Given the description of an element on the screen output the (x, y) to click on. 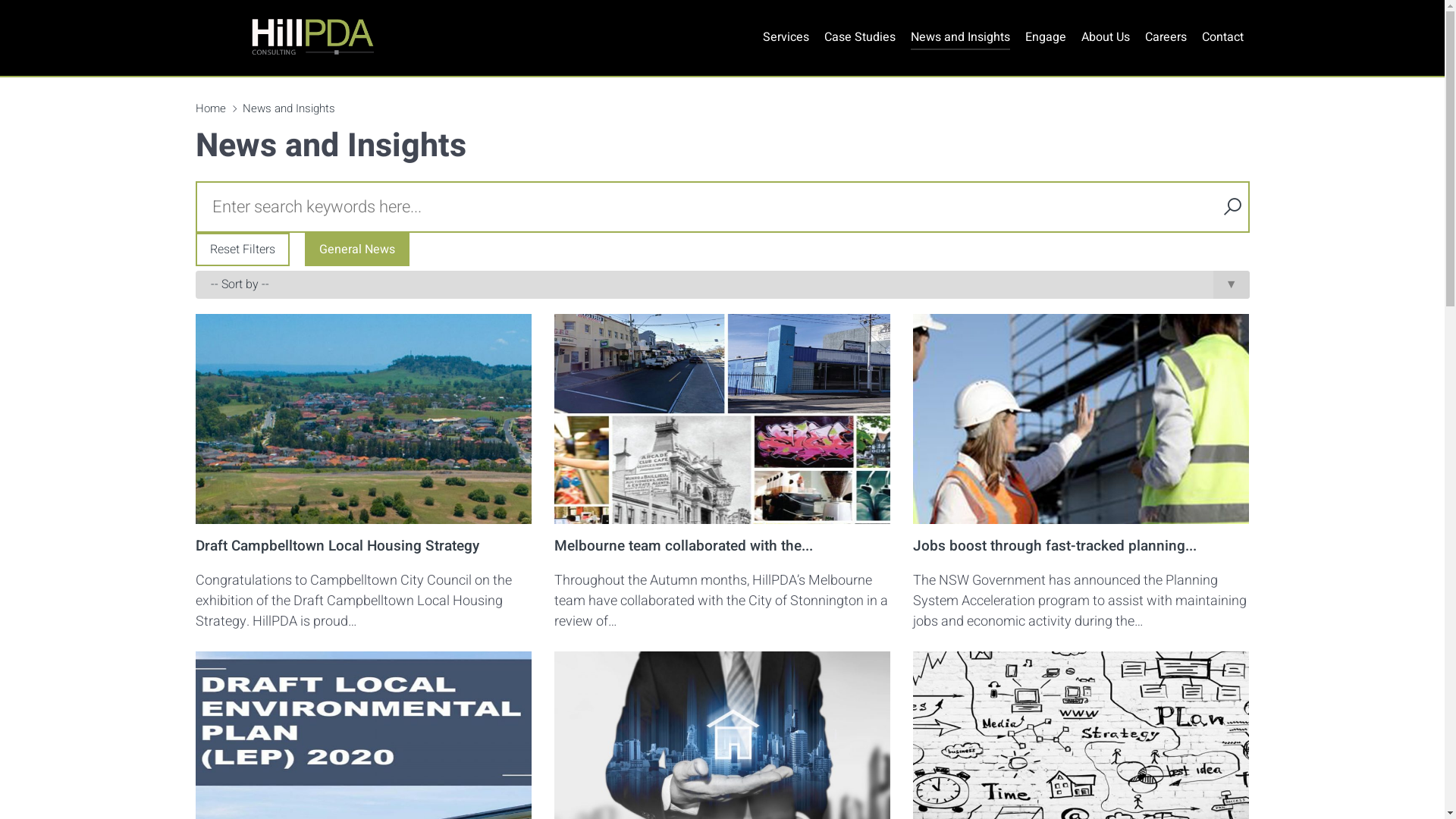
Home Element type: text (210, 108)
About Us Element type: text (1105, 38)
Case Studies Element type: text (858, 38)
Jobs boost through fast-tracked planning... Element type: text (1054, 545)
Draft Campbelltown Local Housing Strategy Element type: text (337, 545)
Reset Filters Element type: text (242, 249)
Contact Element type: text (1221, 38)
Careers Element type: text (1165, 38)
Engage Element type: text (1045, 38)
News and Insights Element type: text (288, 108)
Services Element type: text (785, 38)
General News Element type: text (356, 249)
News and Insights Element type: text (959, 38)
Melbourne team collaborated with the... Element type: text (683, 545)
